Given the description of an element on the screen output the (x, y) to click on. 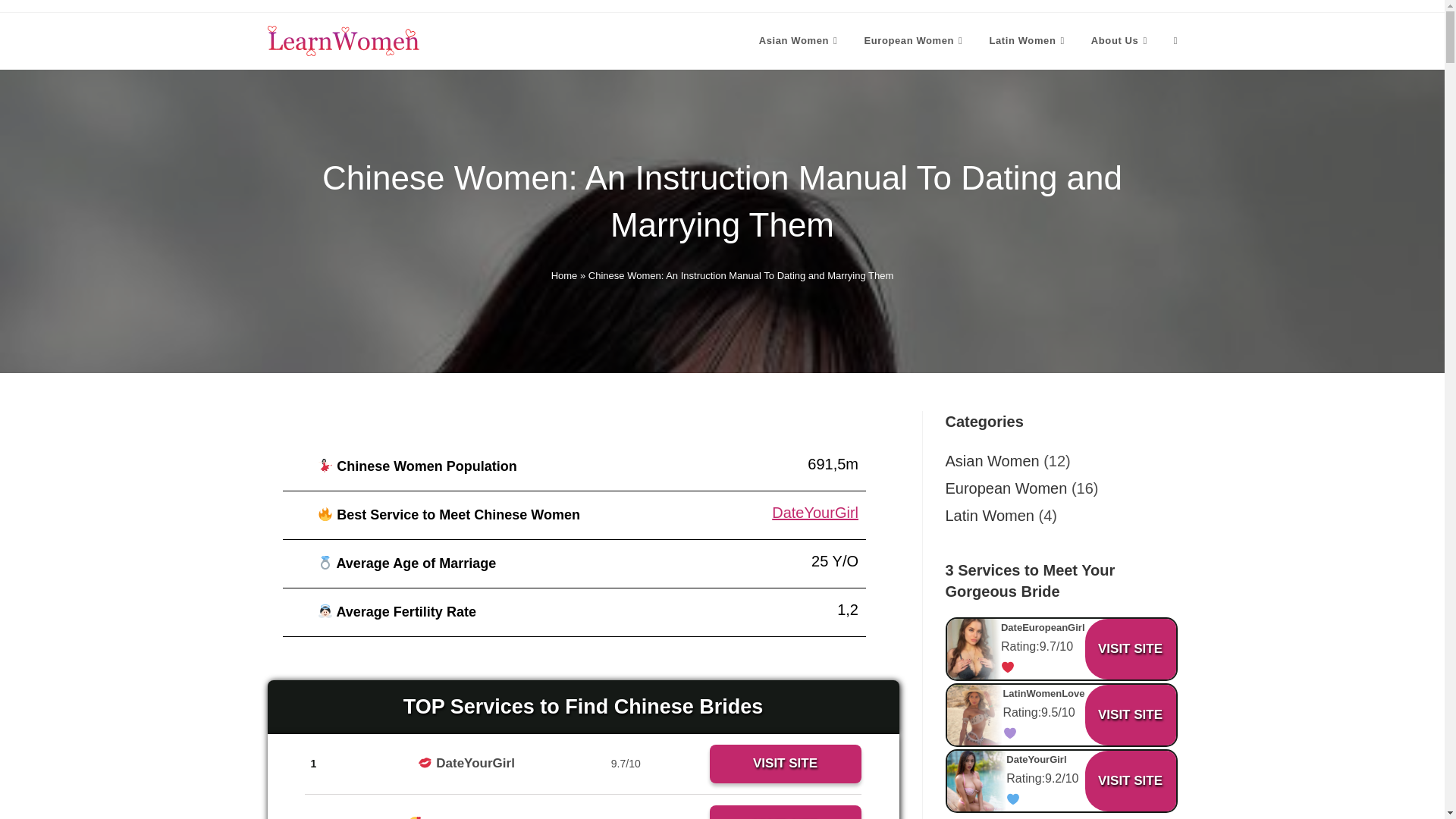
About Us (1120, 40)
European Women (913, 40)
Latin Women (1027, 40)
Asian Women (800, 40)
